Given the description of an element on the screen output the (x, y) to click on. 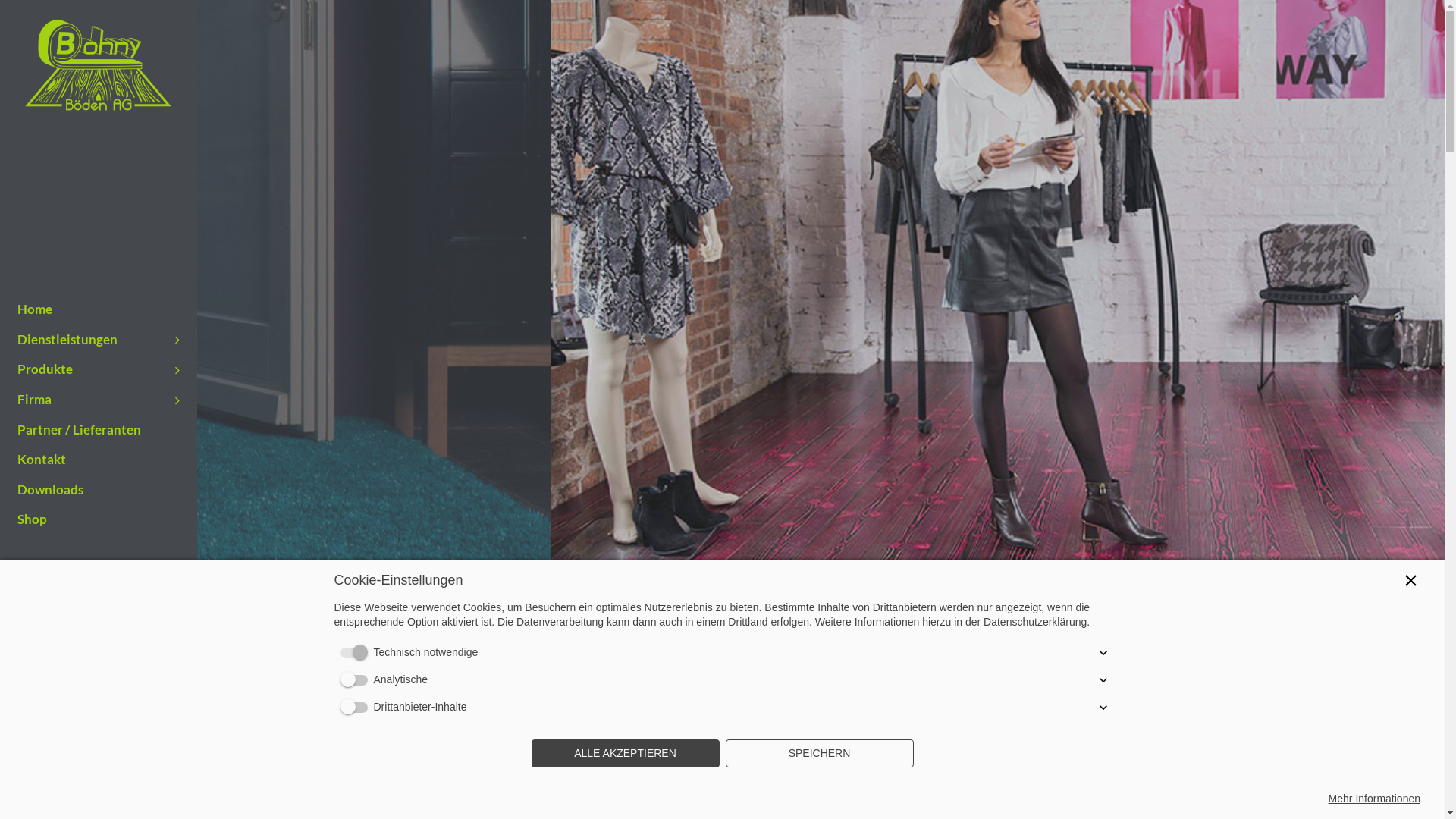
ALLE AKZEPTIEREN Element type: text (624, 753)
Firma Element type: text (98, 399)
Downloads Element type: text (98, 490)
Partner / Lieferanten Element type: text (98, 430)
Mehr Informationen Element type: text (1374, 798)
Produkte Element type: text (98, 369)
Shop Element type: text (98, 519)
Home Element type: text (98, 309)
SPEICHERN Element type: text (818, 753)
Dienstleistungen Element type: text (98, 339)
Kontakt Element type: text (98, 459)
